Given the description of an element on the screen output the (x, y) to click on. 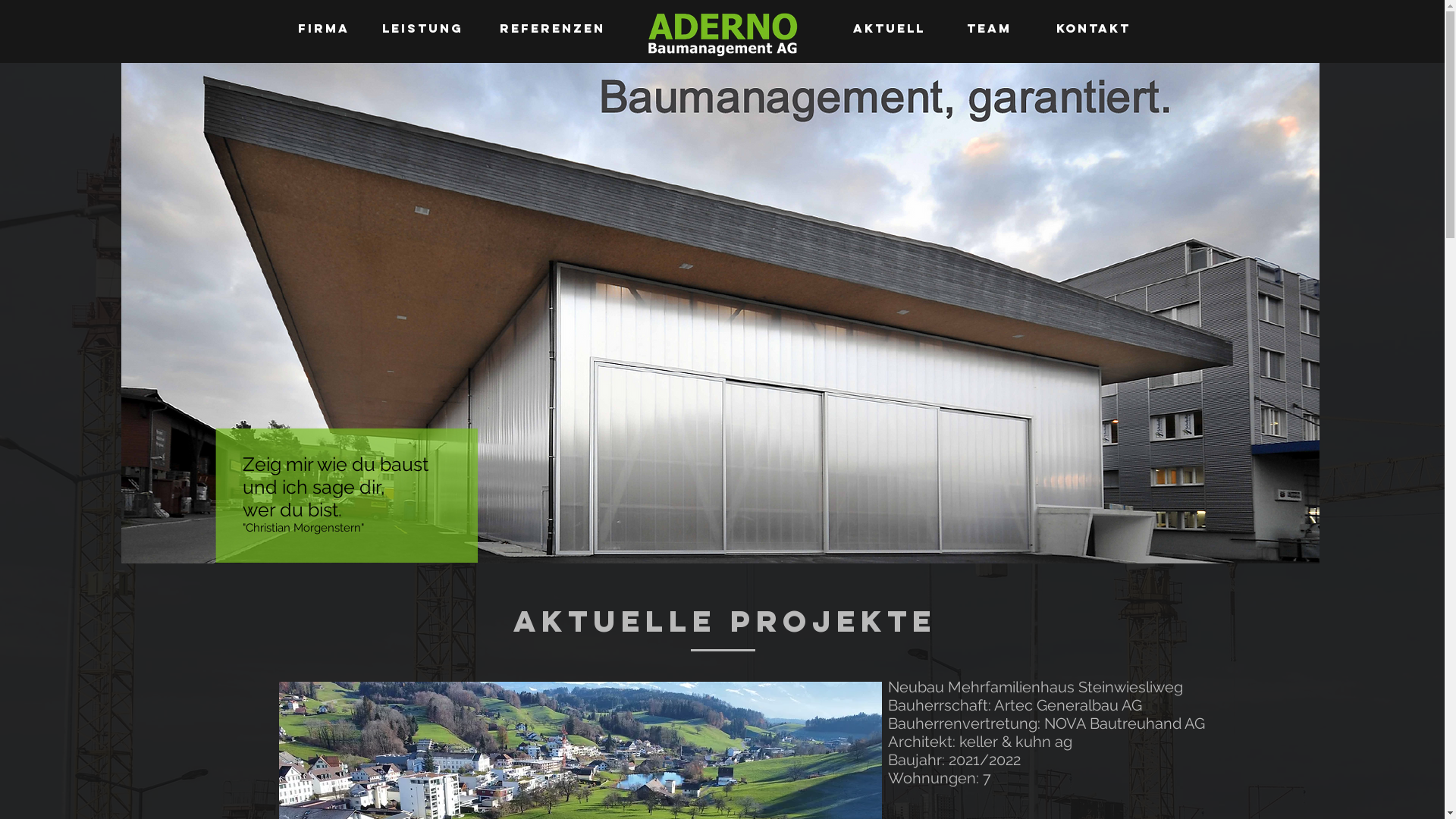
fIRMA Element type: text (322, 28)
Kontakt Element type: text (1092, 28)
referenzen Element type: text (551, 28)
Aktuell Element type: text (889, 28)
tEAM Element type: text (988, 28)
lEISTUNG Element type: text (422, 28)
